Given the description of an element on the screen output the (x, y) to click on. 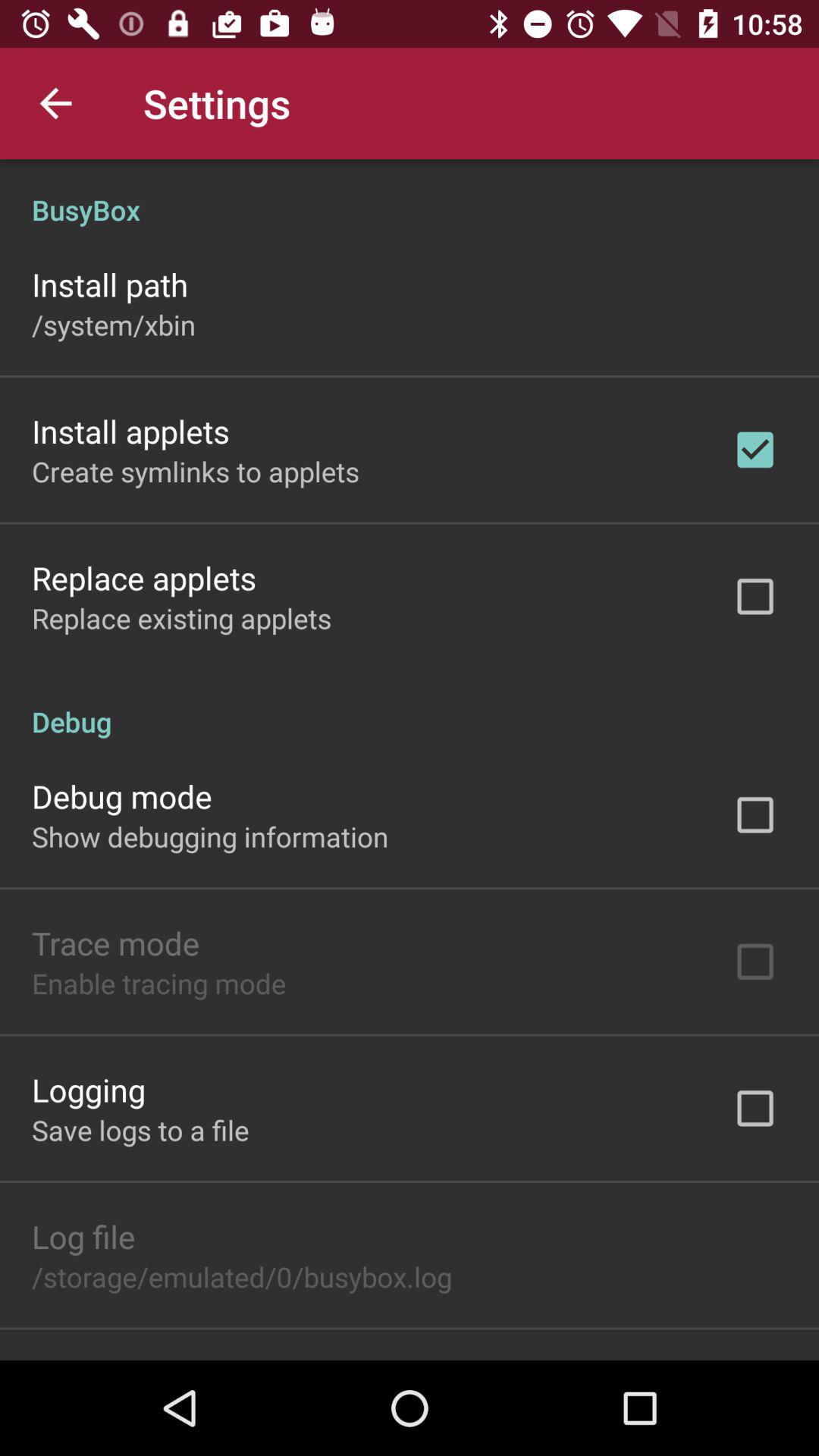
open trace mode (115, 942)
